Given the description of an element on the screen output the (x, y) to click on. 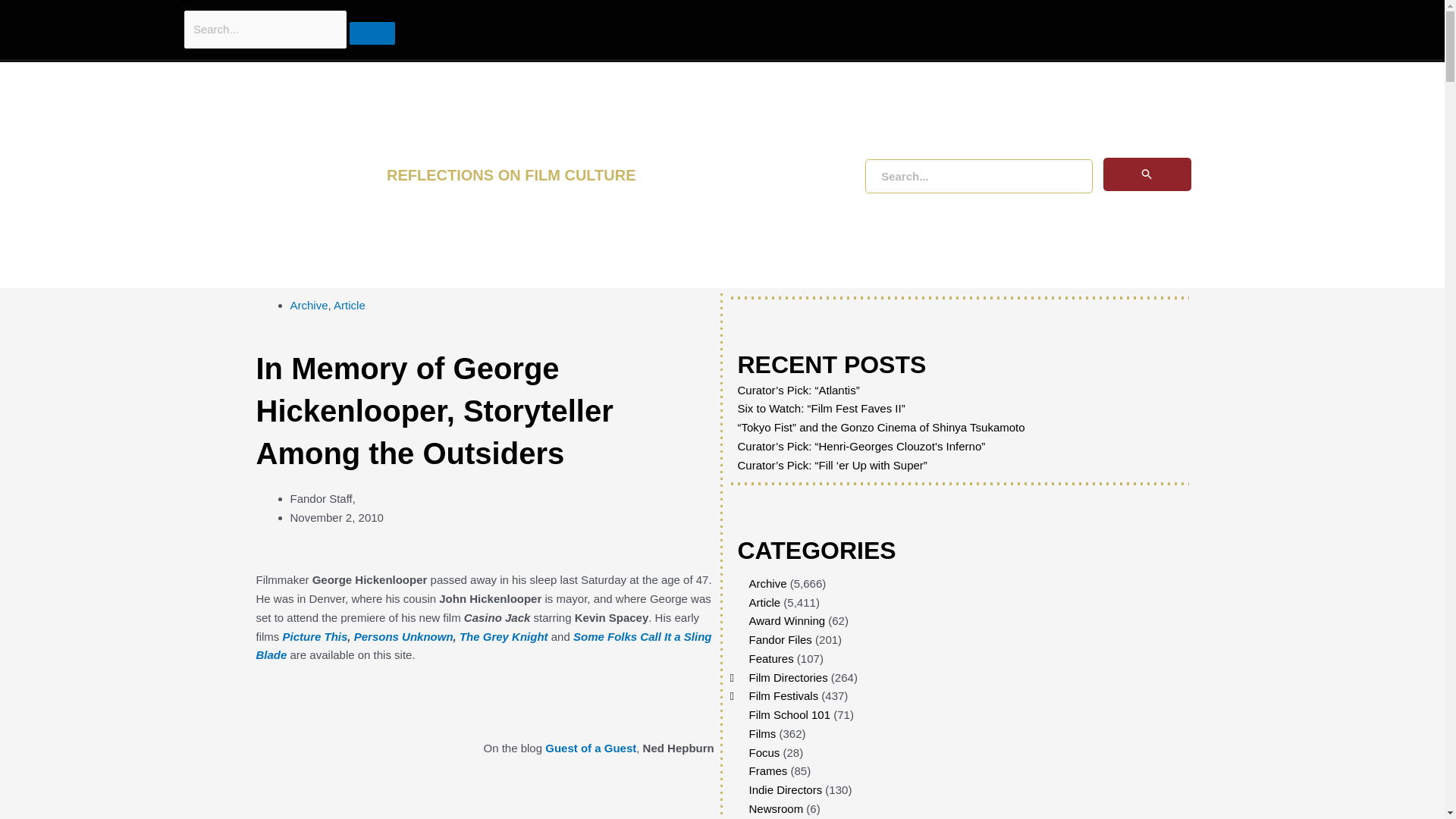
Article (349, 305)
Article (764, 602)
Fandor Files (780, 639)
Archive (768, 583)
Picture This (314, 635)
Persons Unknown (402, 635)
Features (771, 658)
Archive (308, 305)
george-hickenlooper-300x192 (369, 747)
Some Folks Call It a Sling Blade (483, 644)
